Given the description of an element on the screen output the (x, y) to click on. 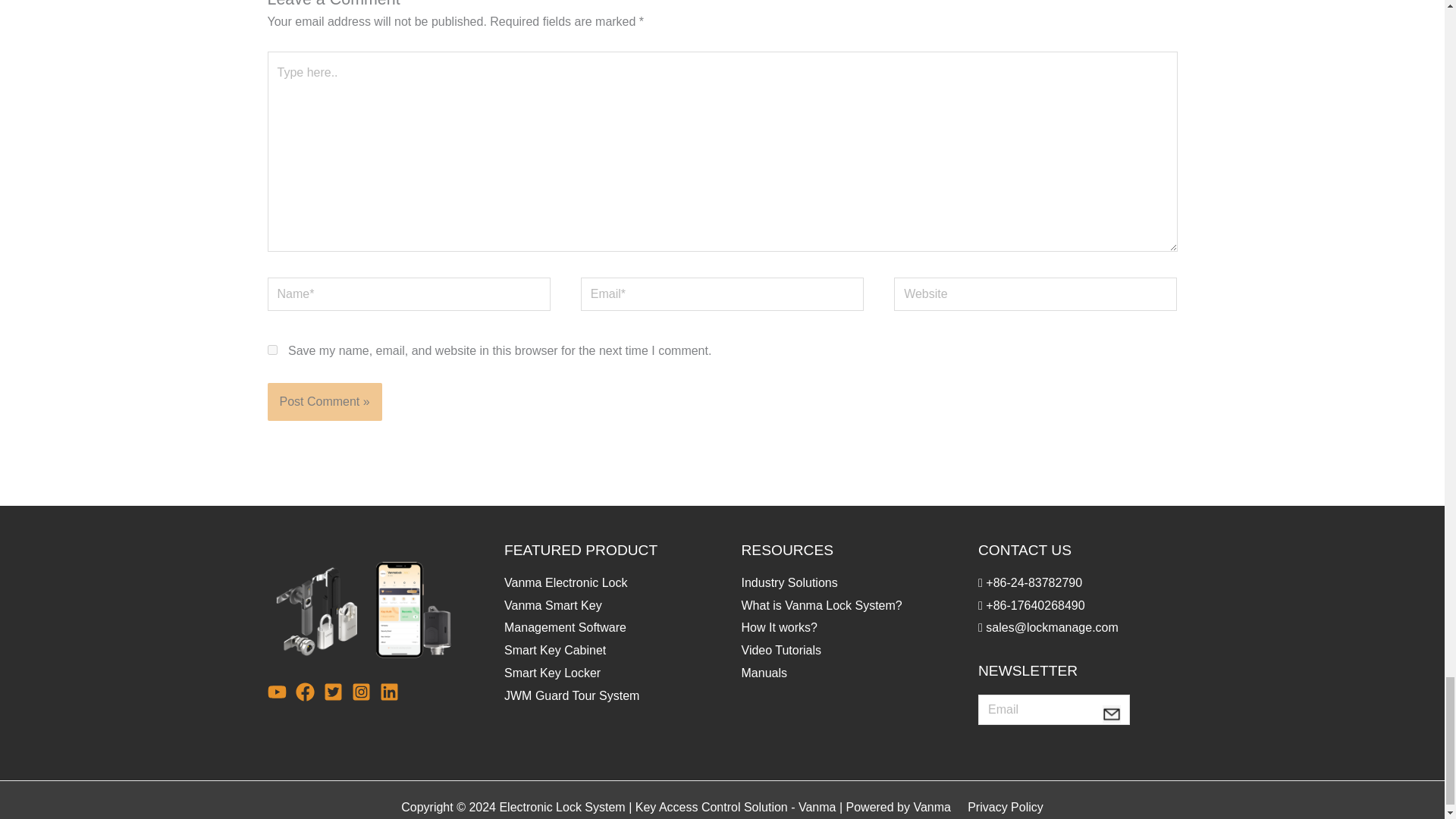
yes (271, 349)
